Given the description of an element on the screen output the (x, y) to click on. 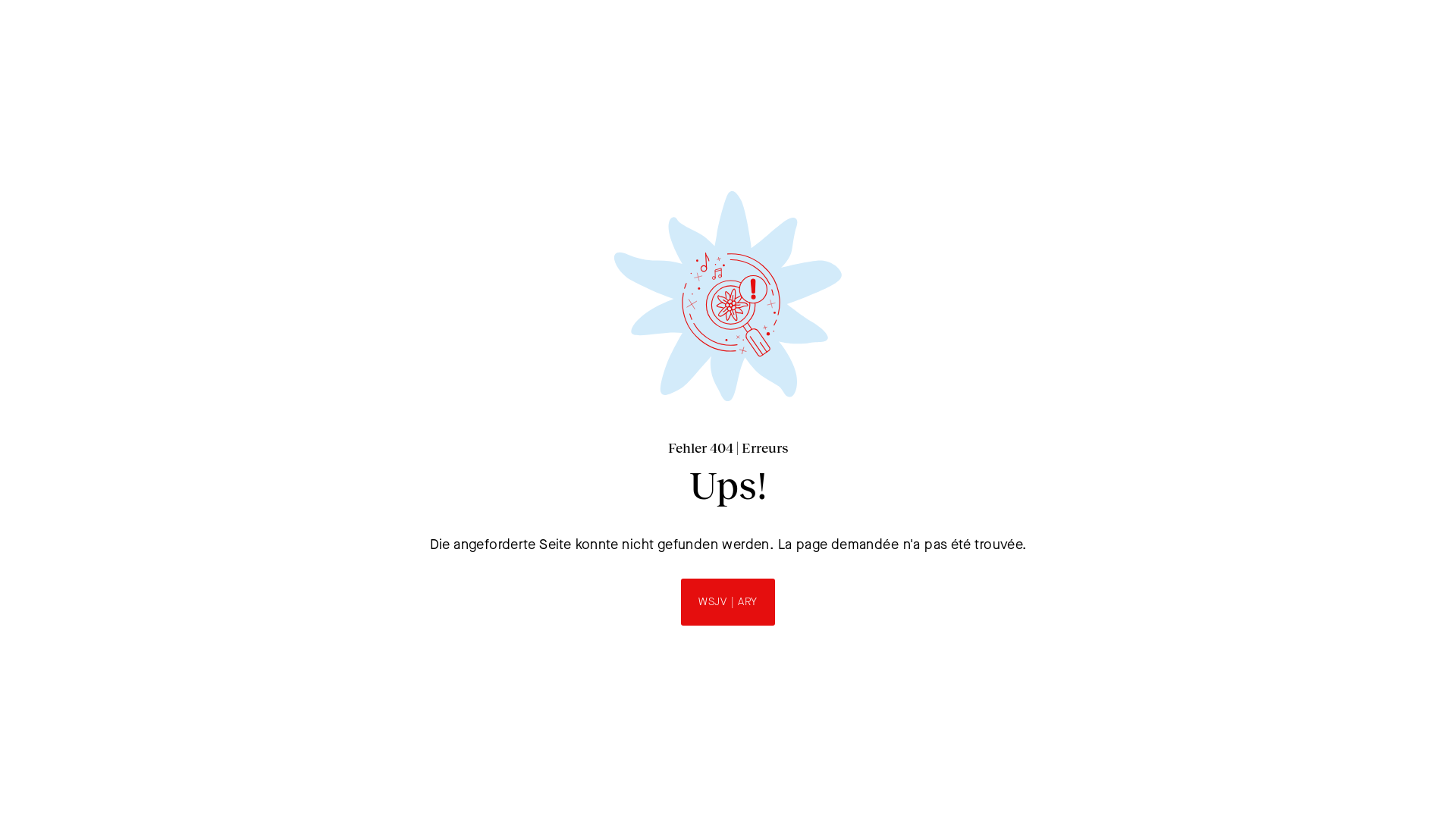
WSJV | ARY Element type: text (727, 601)
